Given the description of an element on the screen output the (x, y) to click on. 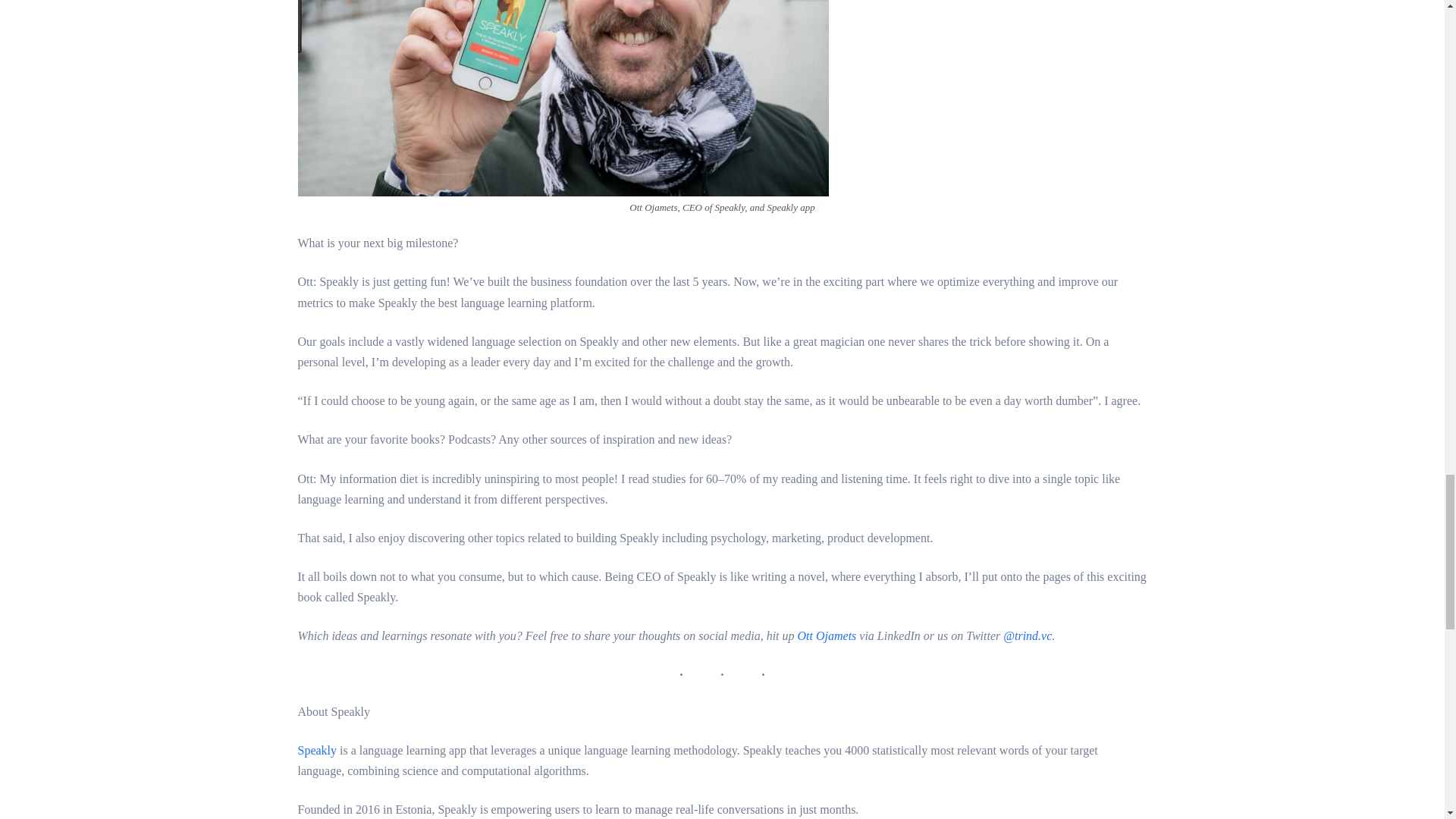
Speakly (316, 749)
Ott Ojamets (827, 635)
